Given the description of an element on the screen output the (x, y) to click on. 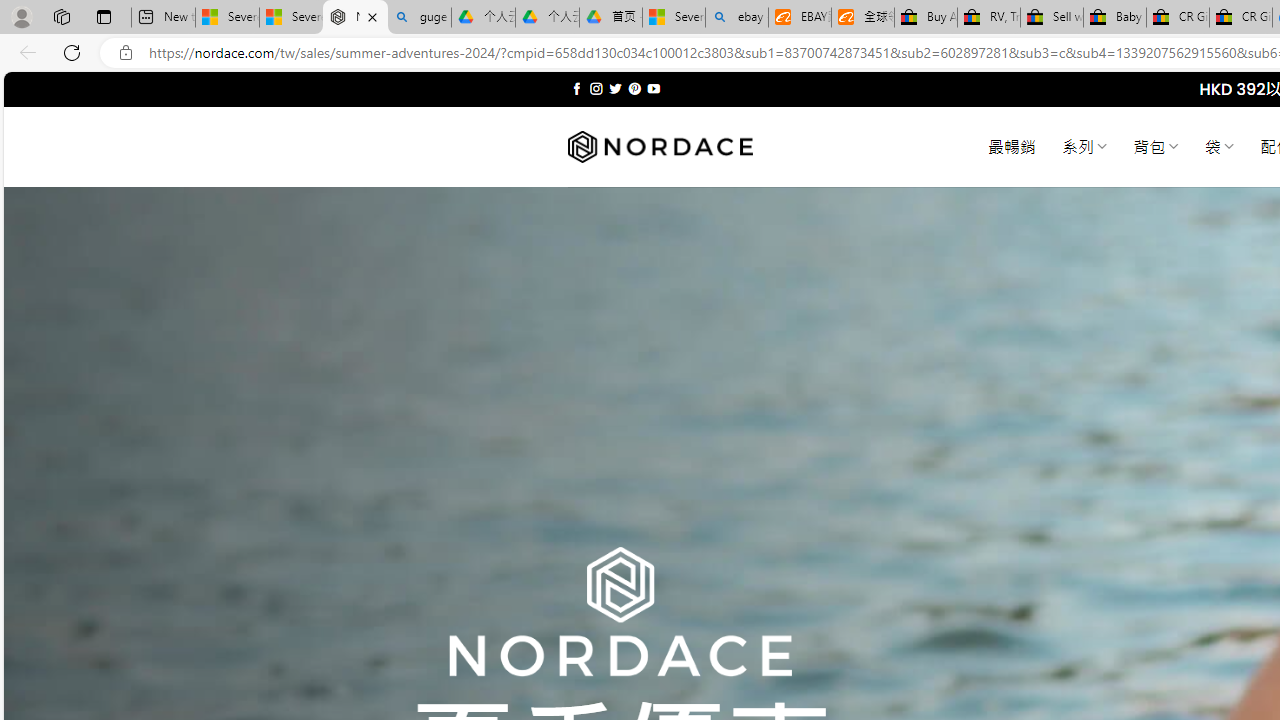
New tab (162, 17)
Follow on Instagram (596, 88)
Nordace - Summer Adventures 2024 (354, 17)
